Given the description of an element on the screen output the (x, y) to click on. 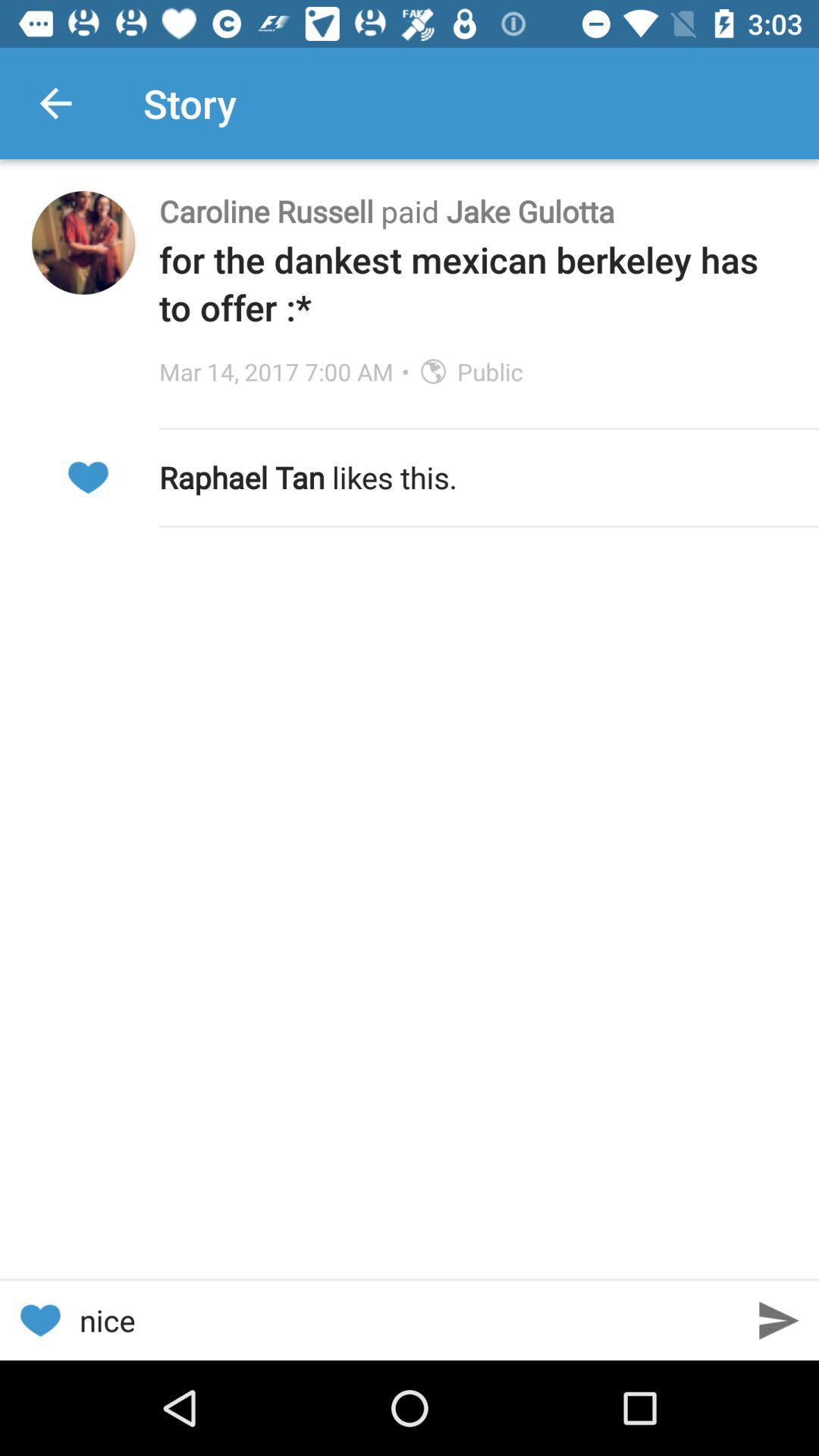
mark as favorite (39, 1320)
